Given the description of an element on the screen output the (x, y) to click on. 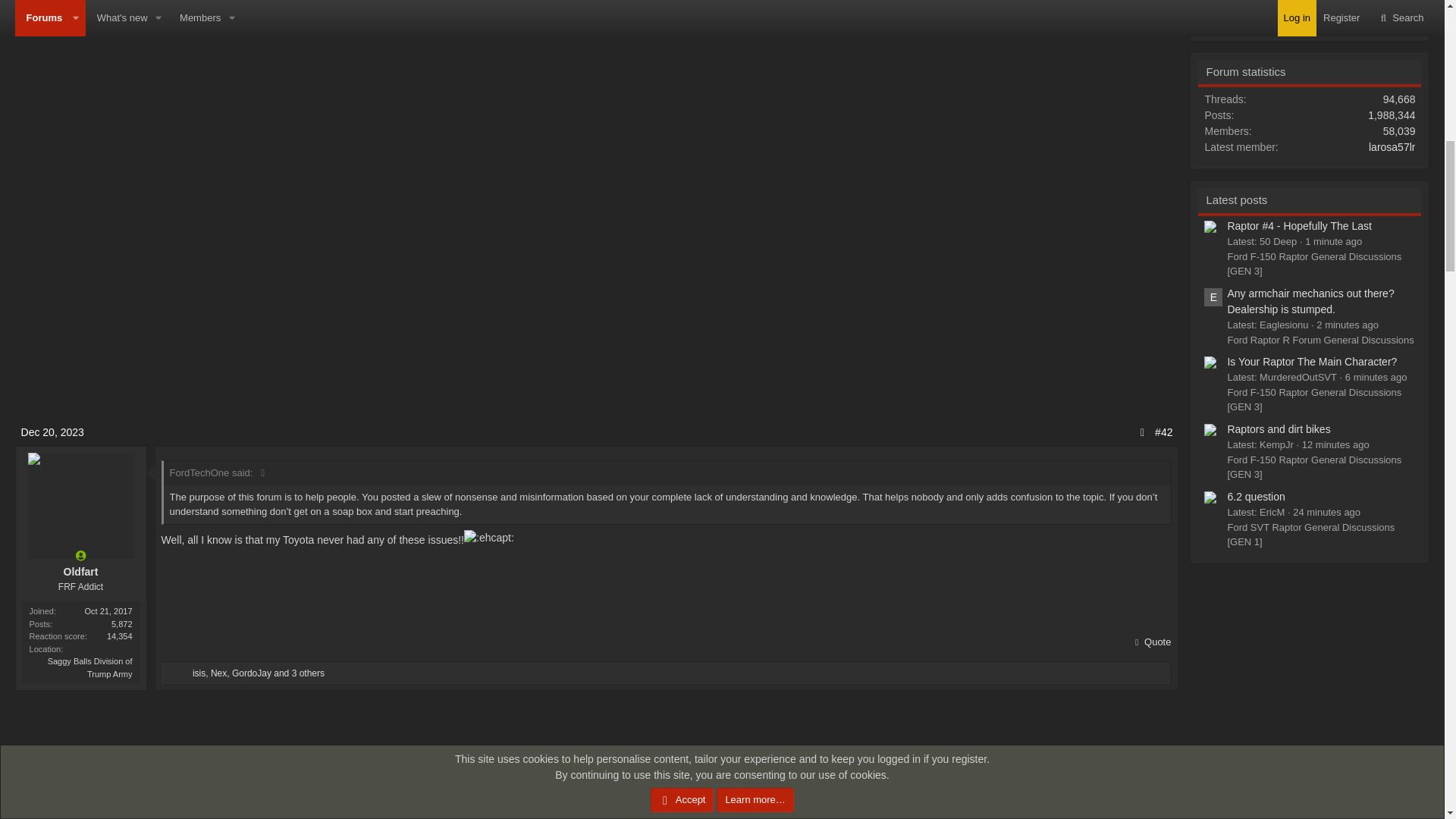
You're Funny (183, 674)
Reply, quoting this message (1151, 641)
Dec 20, 2023 at 4:17 PM (52, 431)
Haha (173, 674)
Ehcapt    :ehcapt: (488, 537)
